Given the description of an element on the screen output the (x, y) to click on. 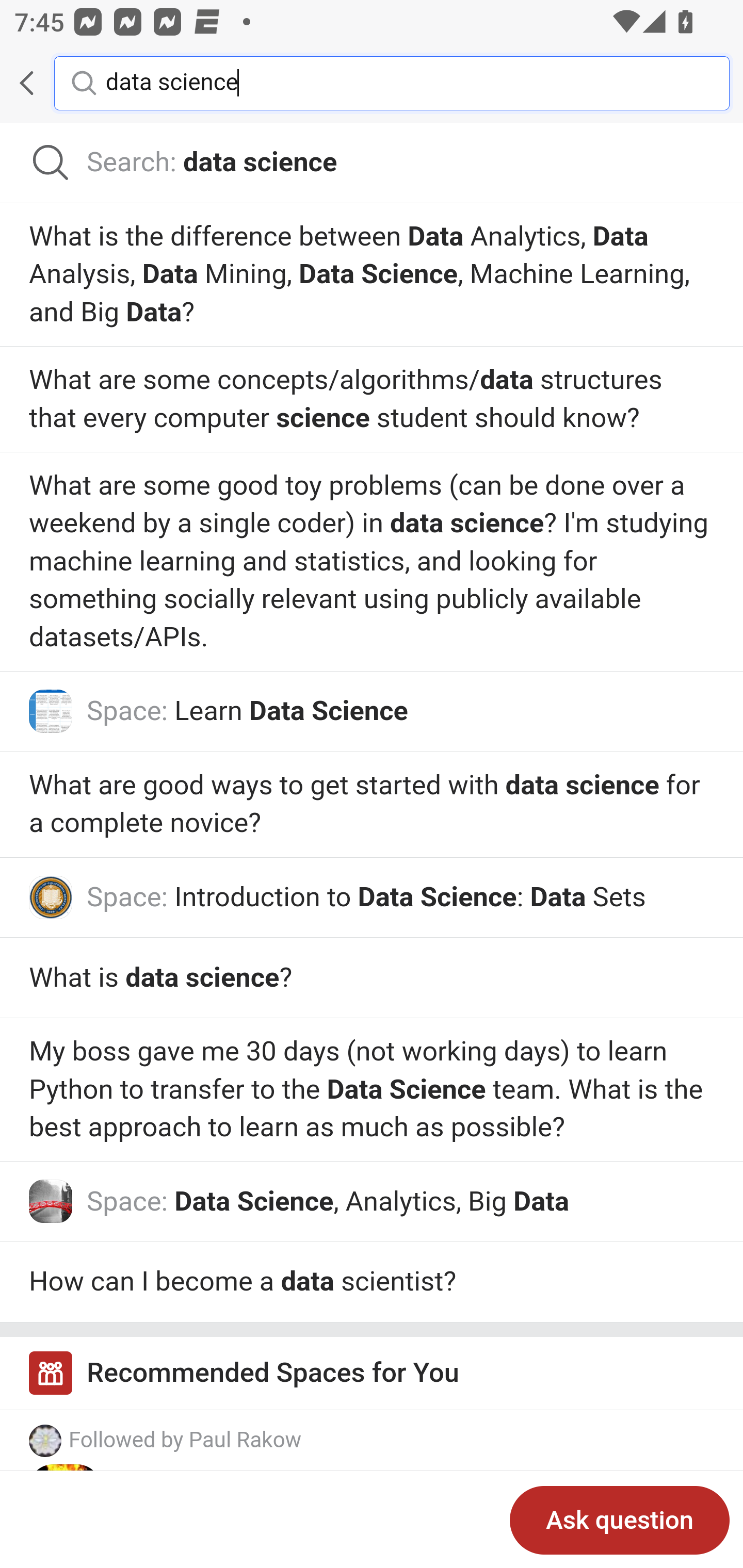
Me Home Search Add (371, 82)
data science (402, 82)
Search: data sce (371, 162)
How do I get started using Quora? (371, 275)
Icon for Learn Data Science (50, 711)
Icon for Introduction to Data Science: Data Sets (50, 896)
How do I learn machine learning? (371, 976)
Icon for Data Science, Analytics, Big Data (50, 1201)
